Given the description of an element on the screen output the (x, y) to click on. 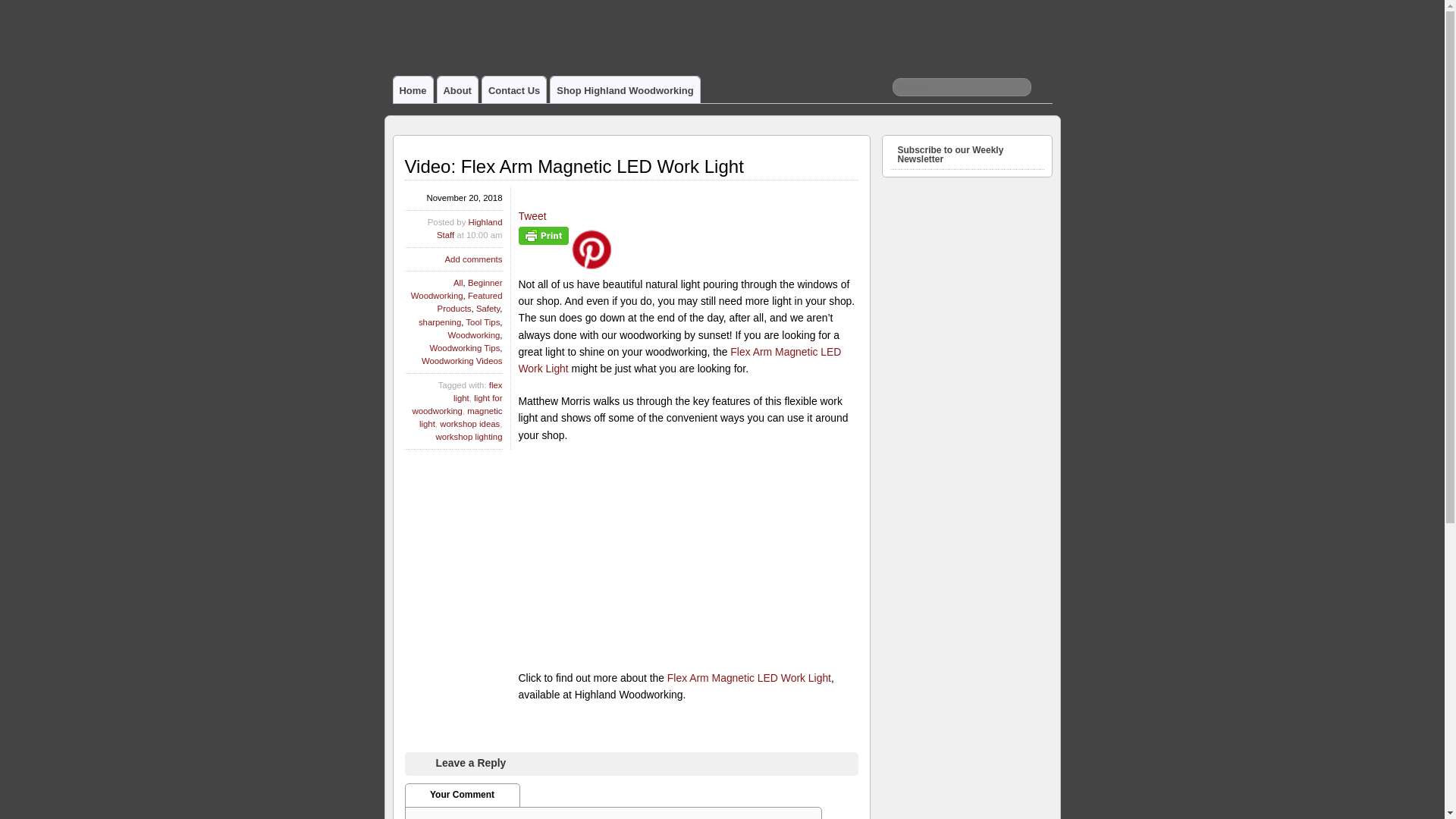
Flex Arm Magnetic LED Work Light (748, 677)
Video: Flex Arm Magnetic LED Work Light (574, 166)
All (457, 282)
Contact Us (513, 89)
Shop Highland Woodworking (624, 89)
Add comments (473, 258)
Featured Products (470, 301)
workshop ideas (469, 423)
workshop lighting (468, 436)
Woodworking (474, 334)
